Given the description of an element on the screen output the (x, y) to click on. 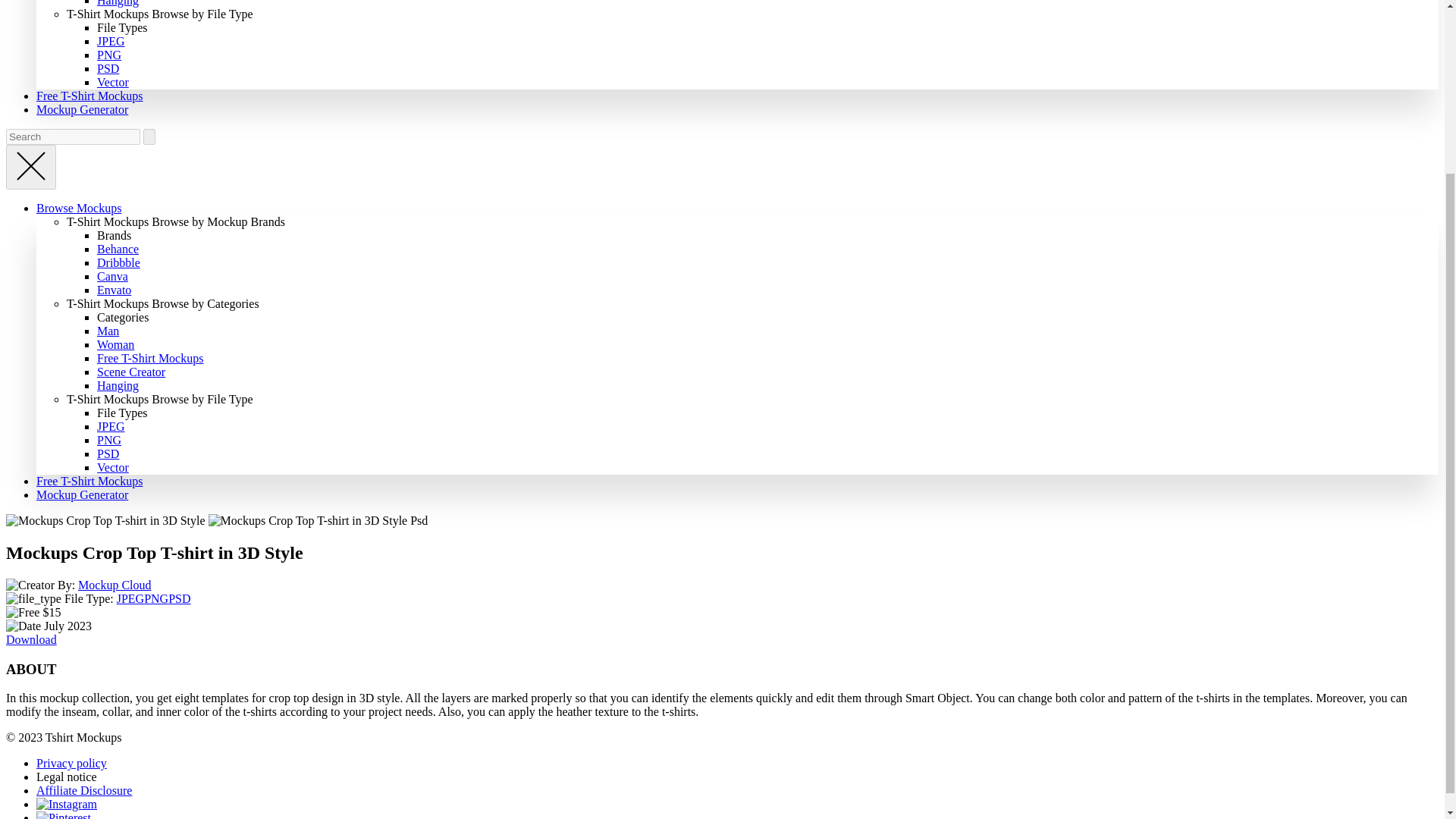
Man (108, 330)
Canva (112, 276)
Brands (114, 235)
Hanging (117, 3)
Browse Mockups (78, 207)
Dribbble (118, 262)
Woman (115, 344)
Categories (122, 317)
Mockup Generator (82, 109)
T-Shirt Mockups Browse by File Type (159, 13)
